Given the description of an element on the screen output the (x, y) to click on. 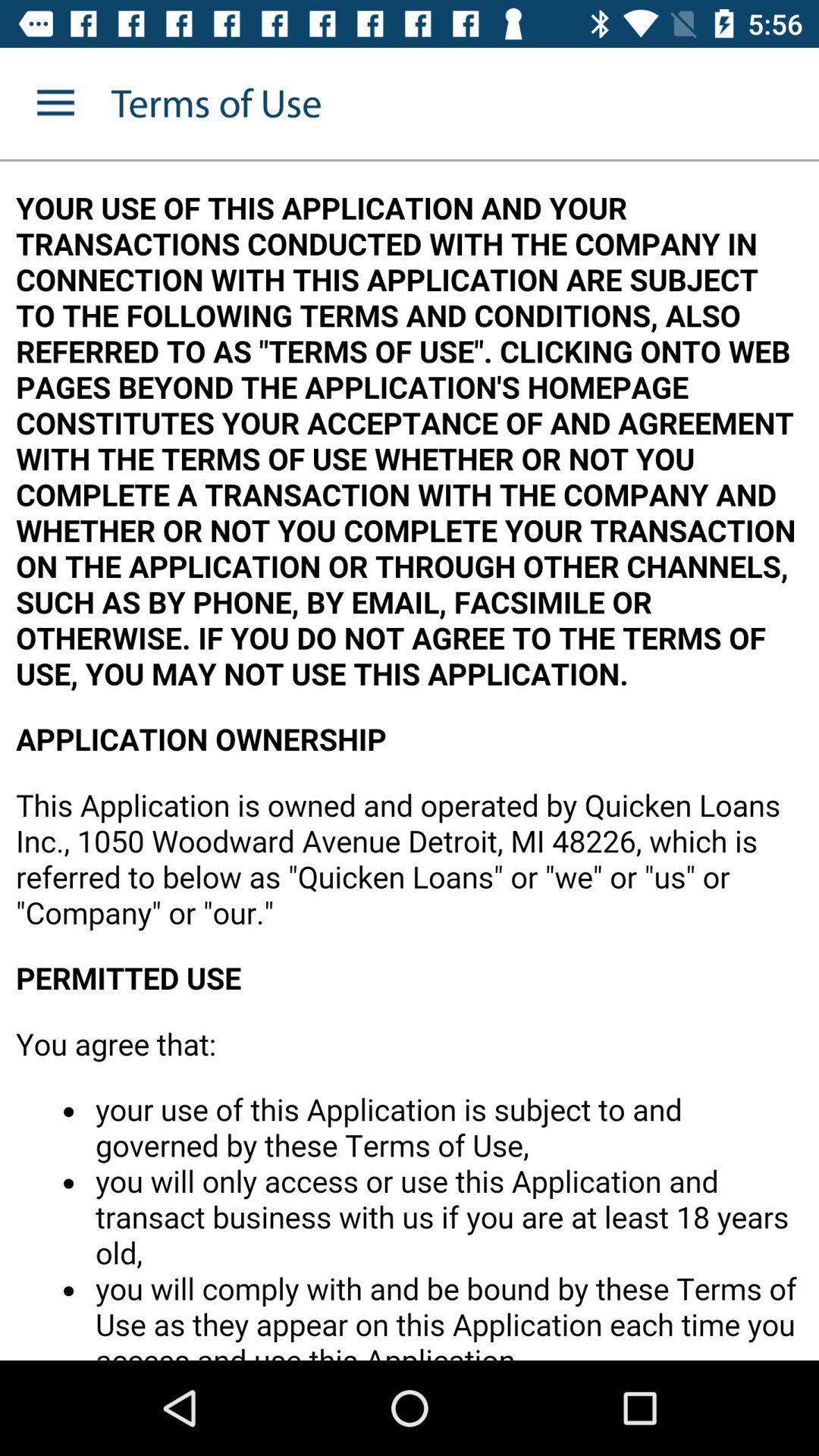
phone application page (409, 760)
